Given the description of an element on the screen output the (x, y) to click on. 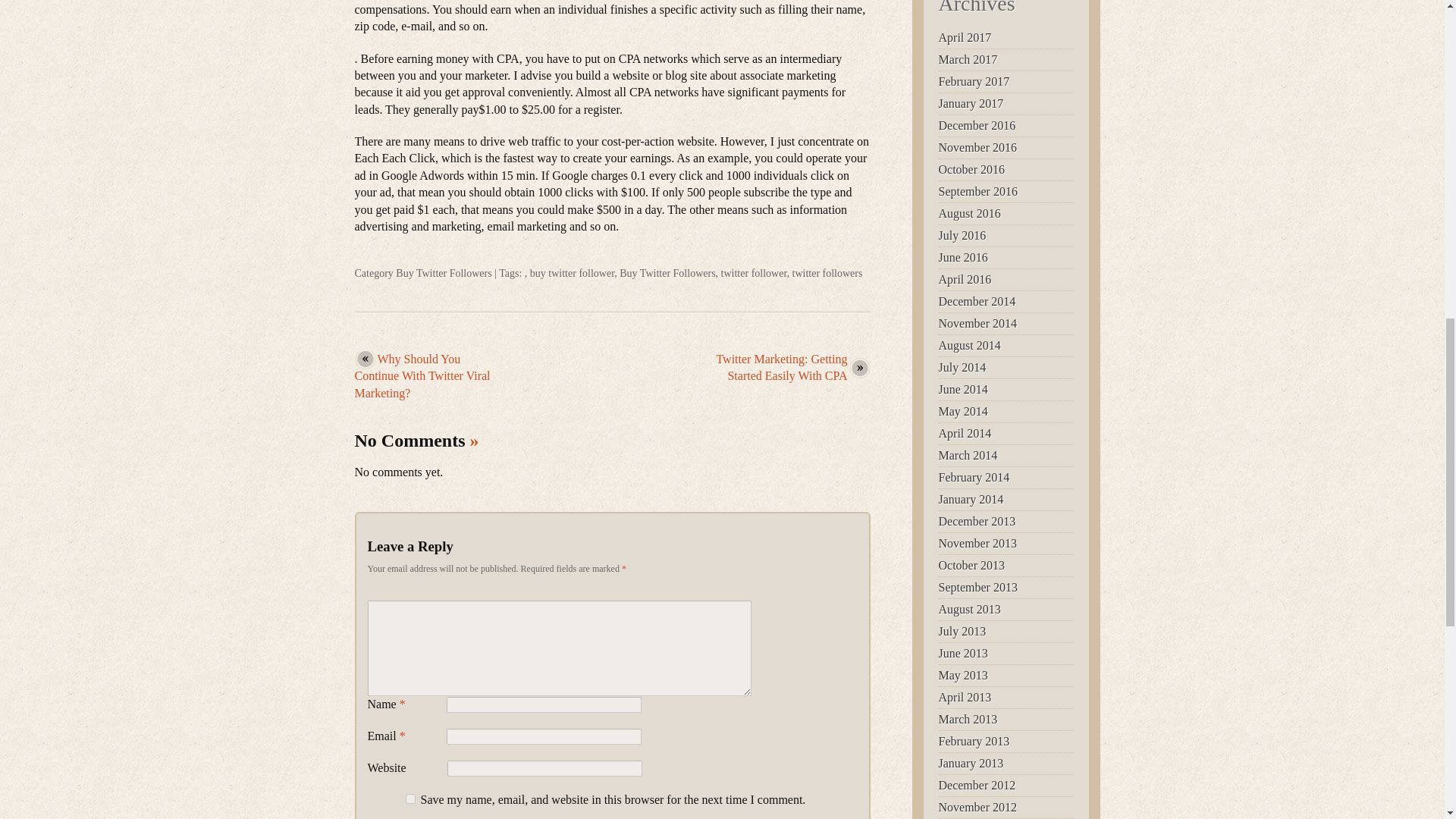
April 2016 (965, 278)
yes (409, 798)
Why Should You Continue With Twitter Viral Marketing? (422, 375)
Buy Twitter Followers (444, 273)
July 2016 (963, 235)
August 2016 (970, 213)
twitter followers (827, 273)
February 2017 (974, 81)
buy twitter follower (571, 273)
June 2016 (963, 256)
November 2016 (978, 146)
September 2016 (978, 191)
August 2014 (970, 345)
December 2014 (977, 300)
March 2017 (968, 59)
